Given the description of an element on the screen output the (x, y) to click on. 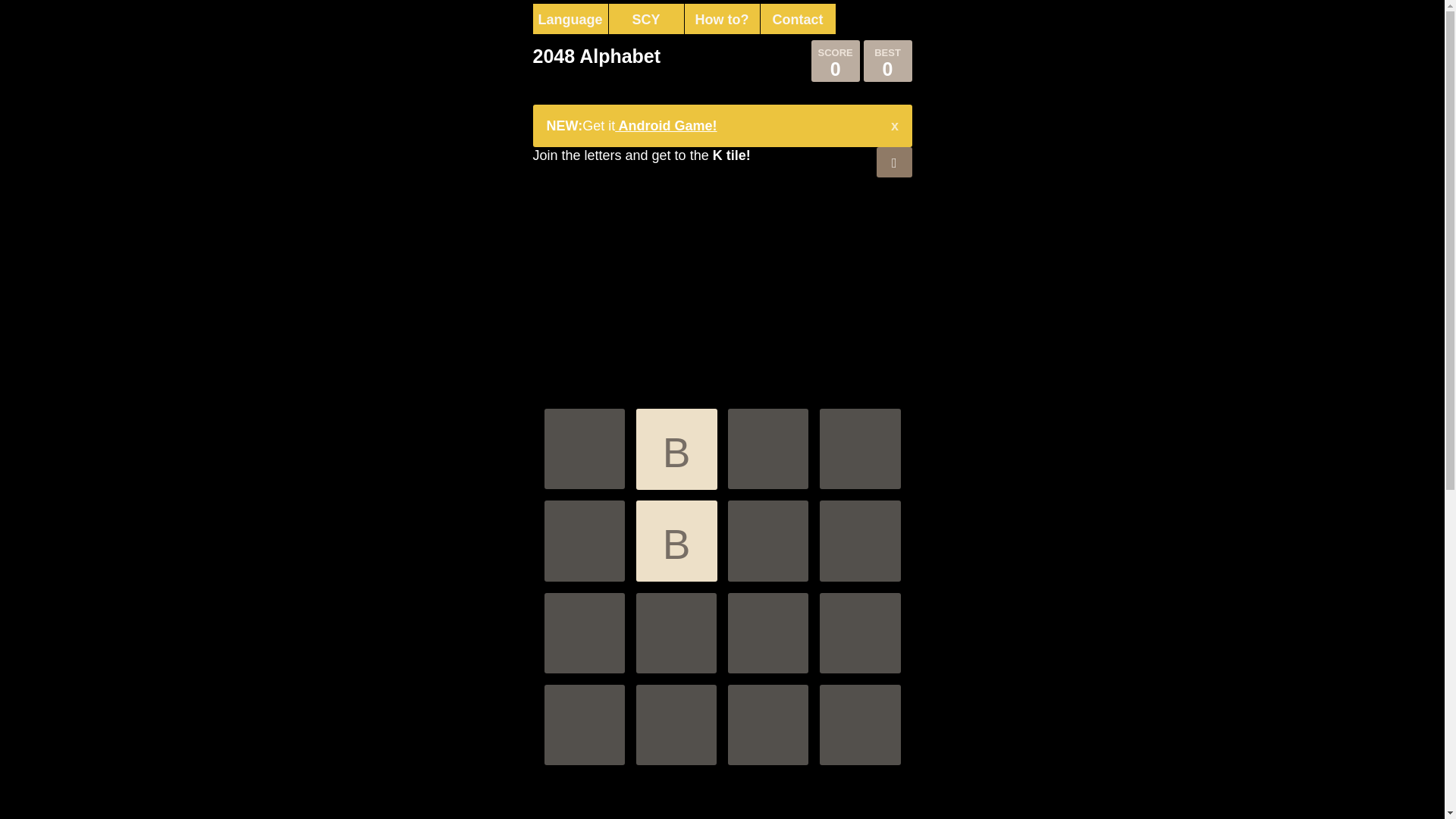
How to? Element type: text (721, 18)
SCY Element type: text (645, 18)
Contact Element type: text (796, 18)
Language Element type: text (569, 18)
Android Game! Element type: text (665, 125)
Advertisement Element type: hover (721, 283)
